Given the description of an element on the screen output the (x, y) to click on. 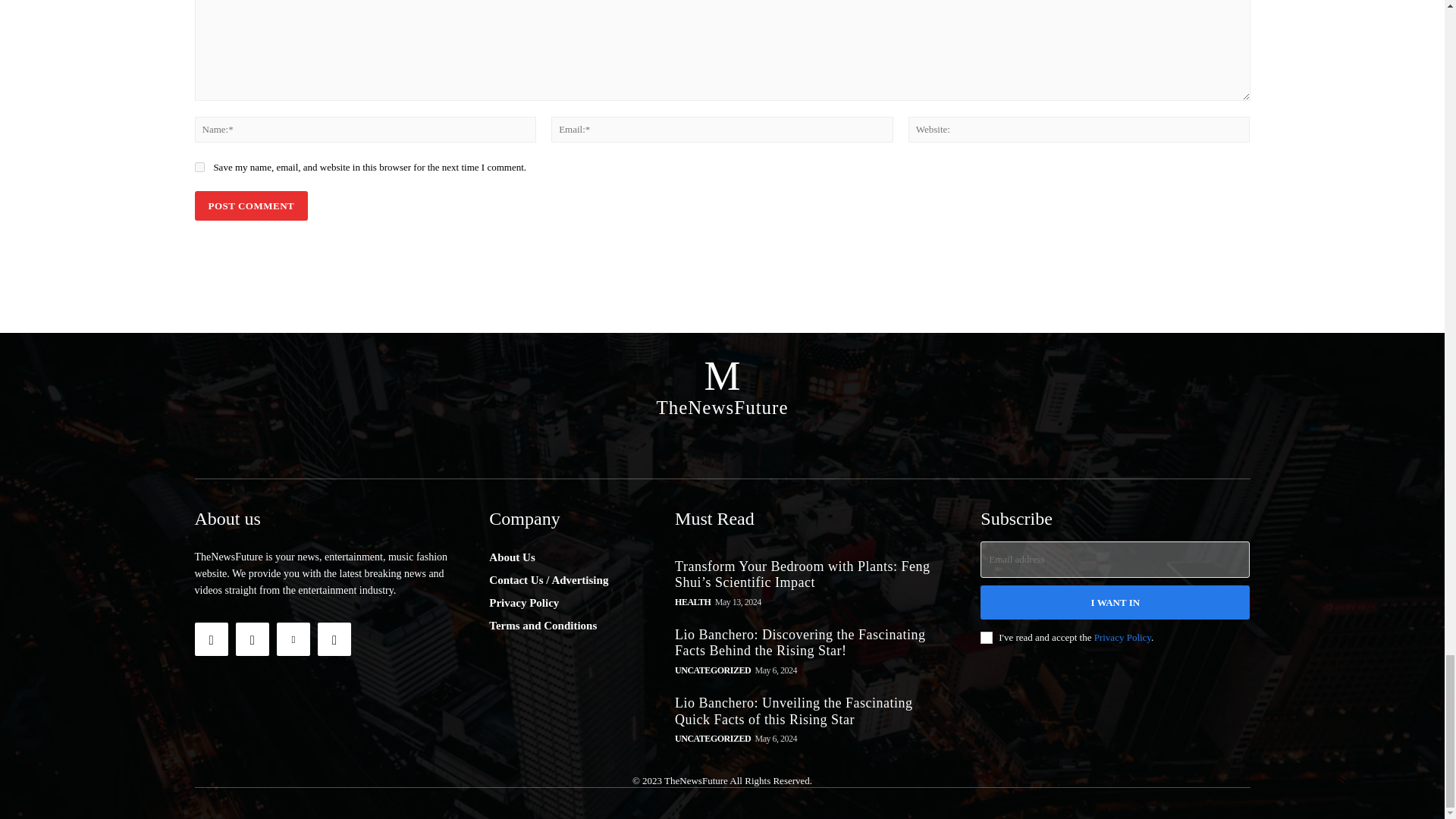
Post Comment (250, 205)
yes (198, 166)
